Given the description of an element on the screen output the (x, y) to click on. 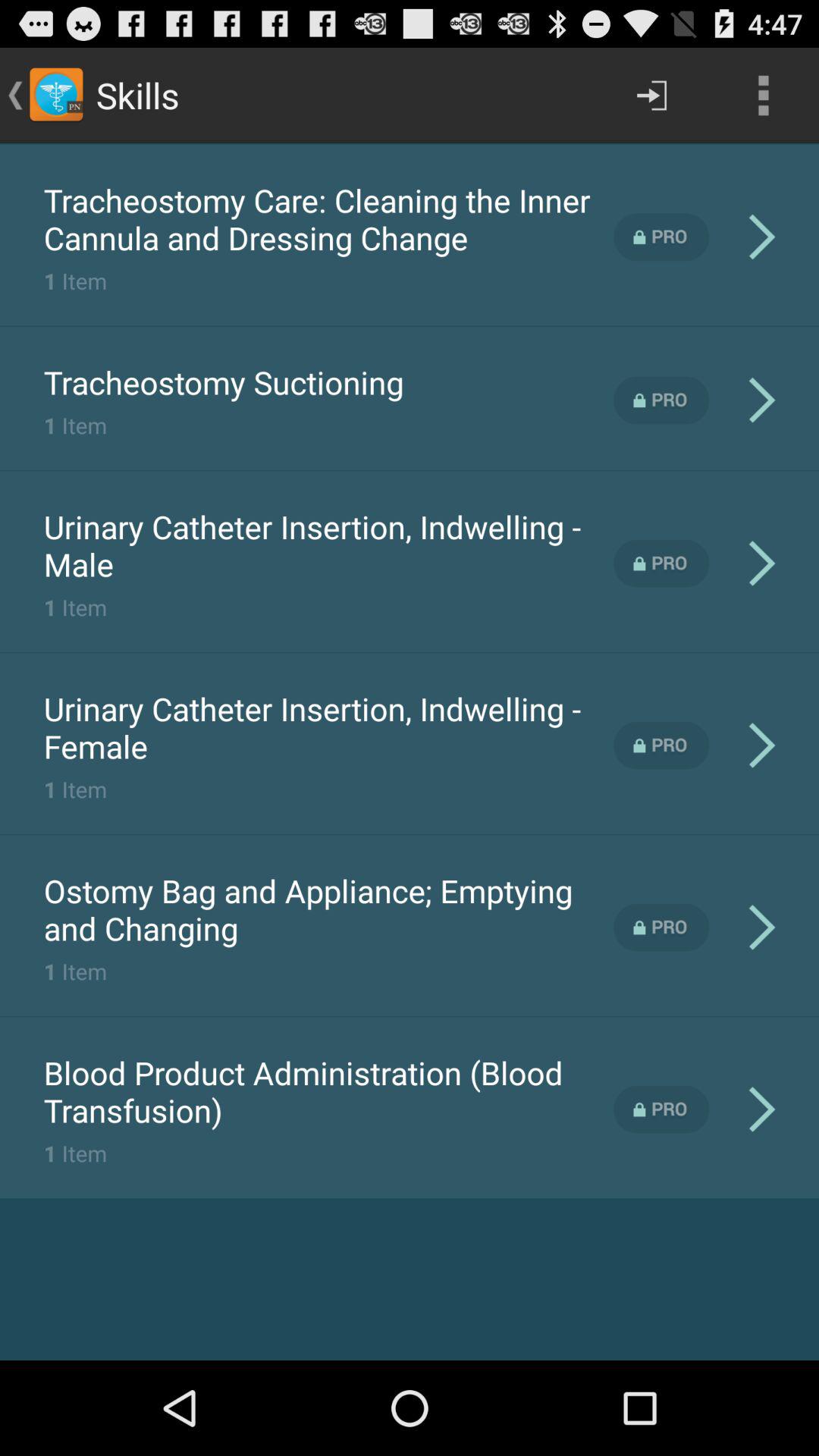
launch the app above 1 item item (223, 381)
